Given the description of an element on the screen output the (x, y) to click on. 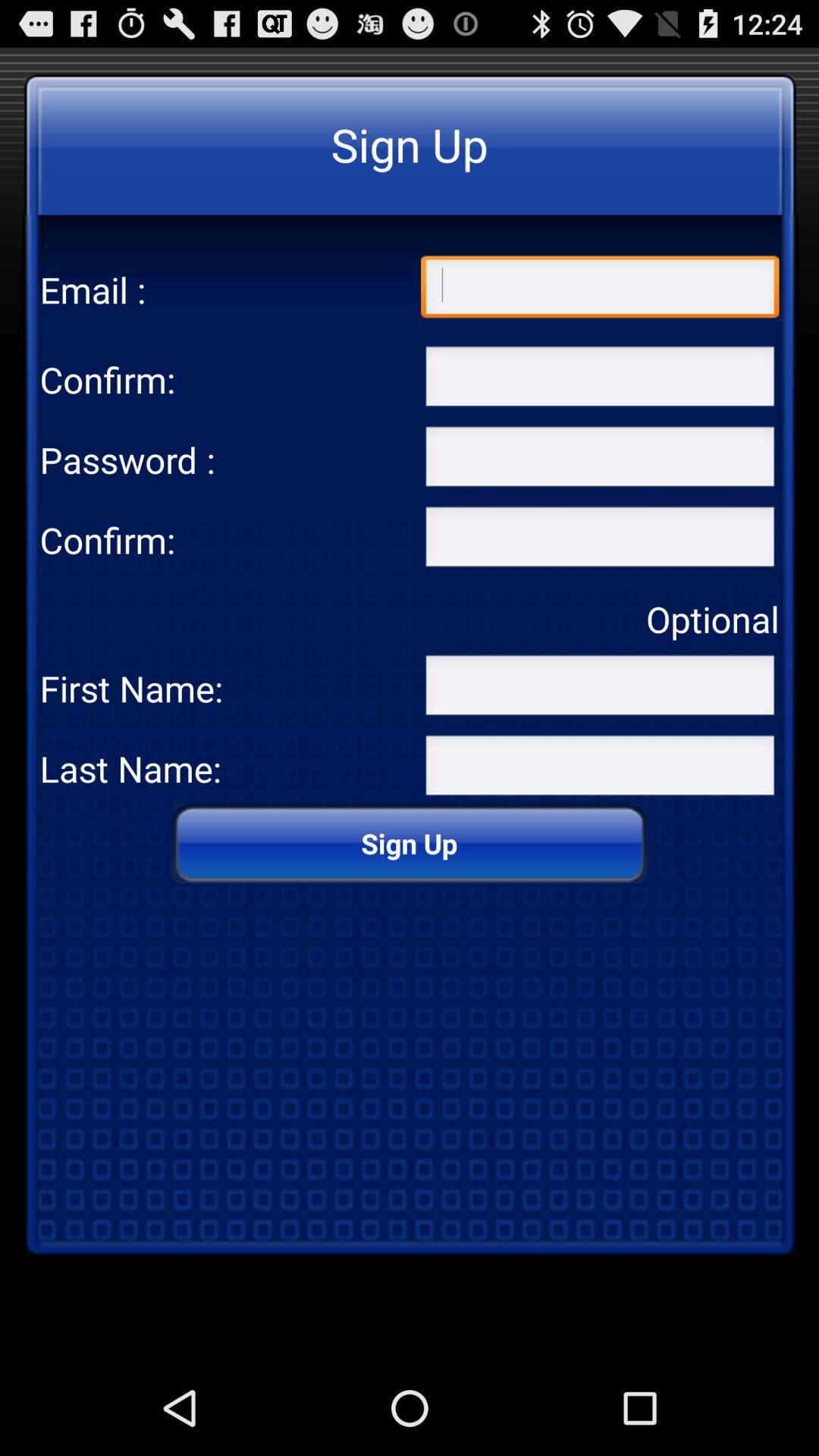
toggle autoplay option (599, 768)
